Given the description of an element on the screen output the (x, y) to click on. 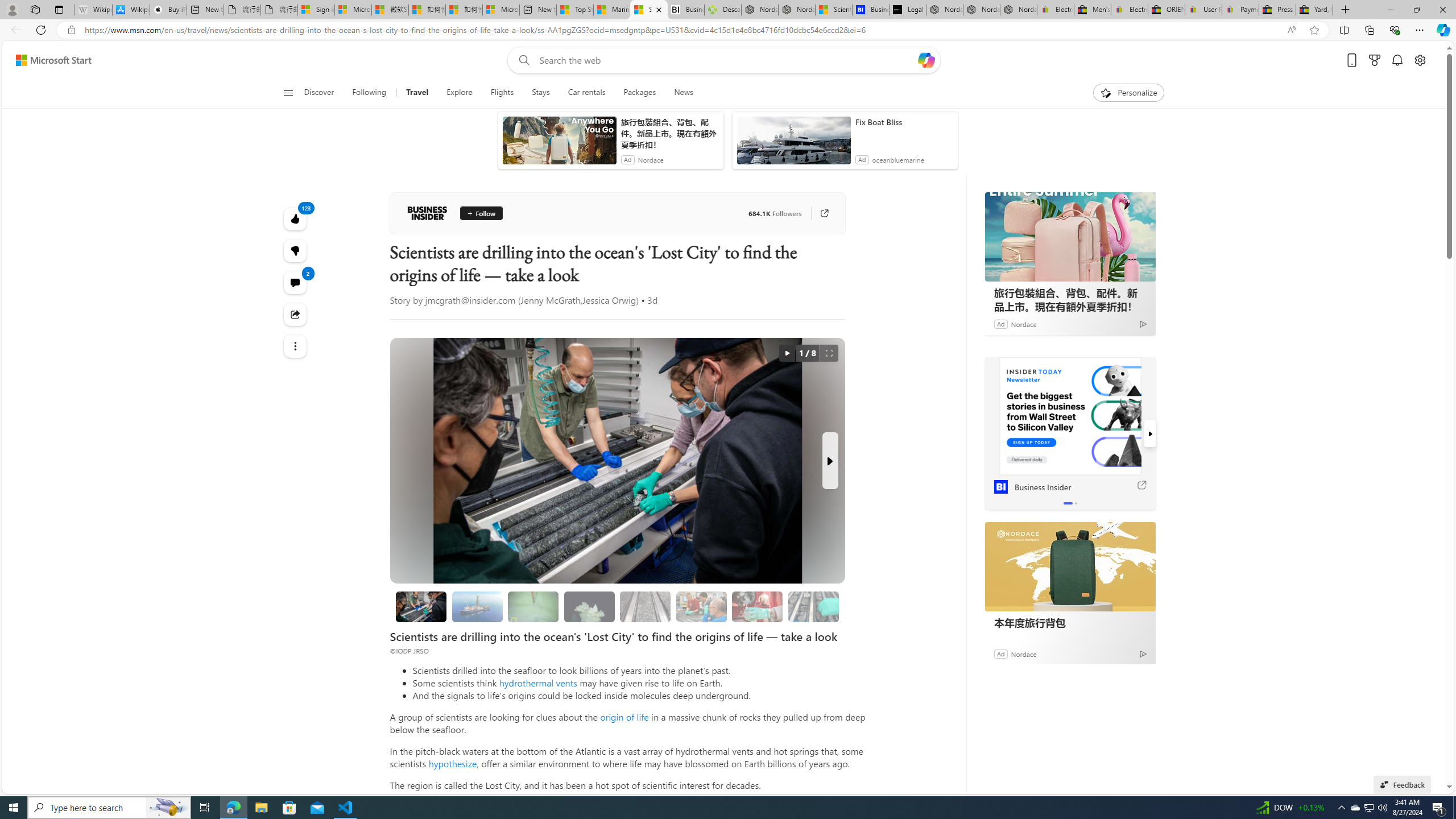
Top Stories - MSN (574, 9)
Enter your search term (726, 59)
123 (295, 250)
Go to publisher's site (823, 213)
Travel (417, 92)
Explore (459, 92)
Press Room - eBay Inc. (1276, 9)
